Given the description of an element on the screen output the (x, y) to click on. 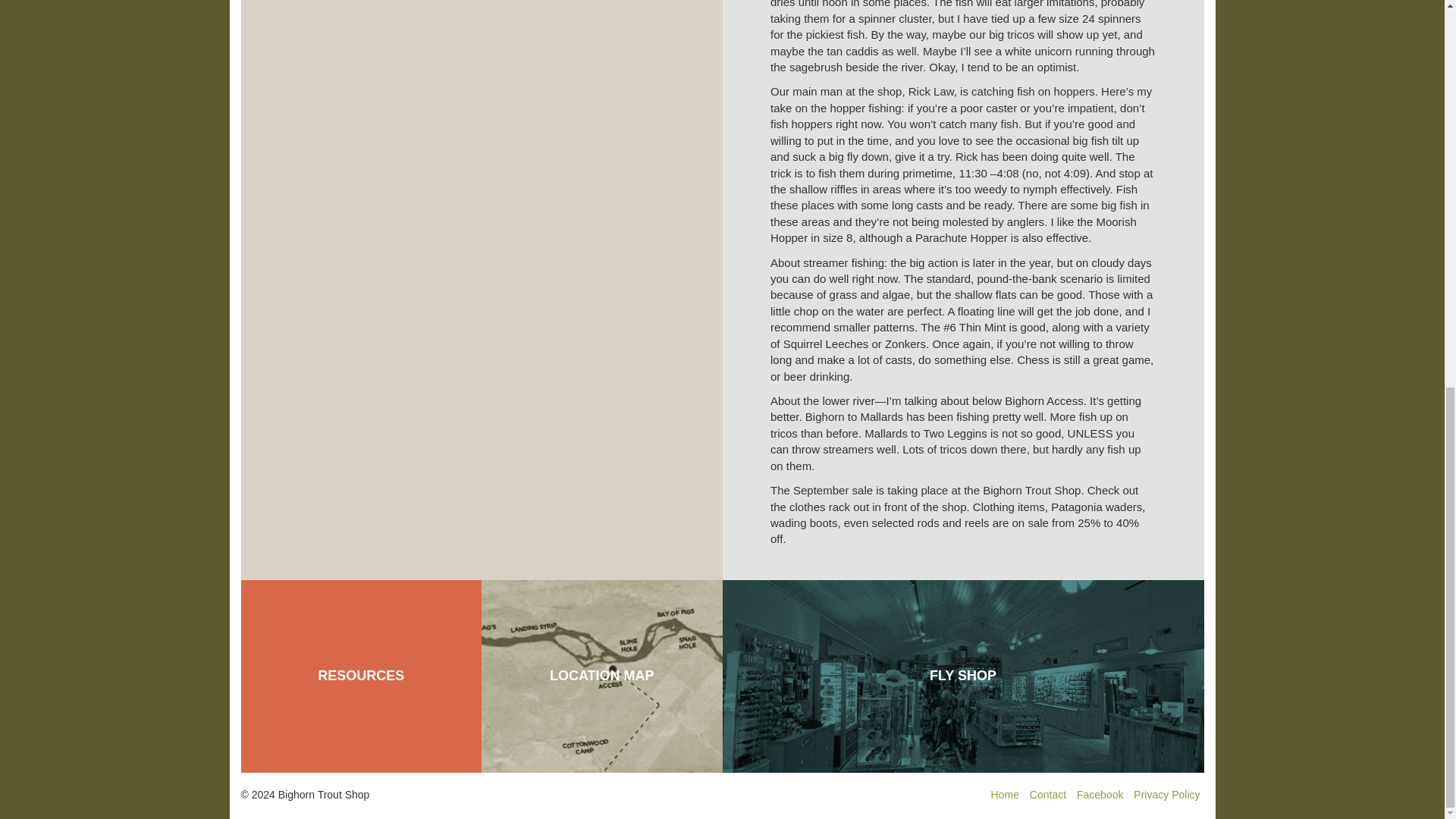
RESOURCES (361, 676)
FLY SHOP (963, 676)
Contact (1047, 794)
Privacy Policy (1166, 794)
Home (1005, 794)
LOCATION MAP (601, 676)
Facebook (1099, 794)
